Given the description of an element on the screen output the (x, y) to click on. 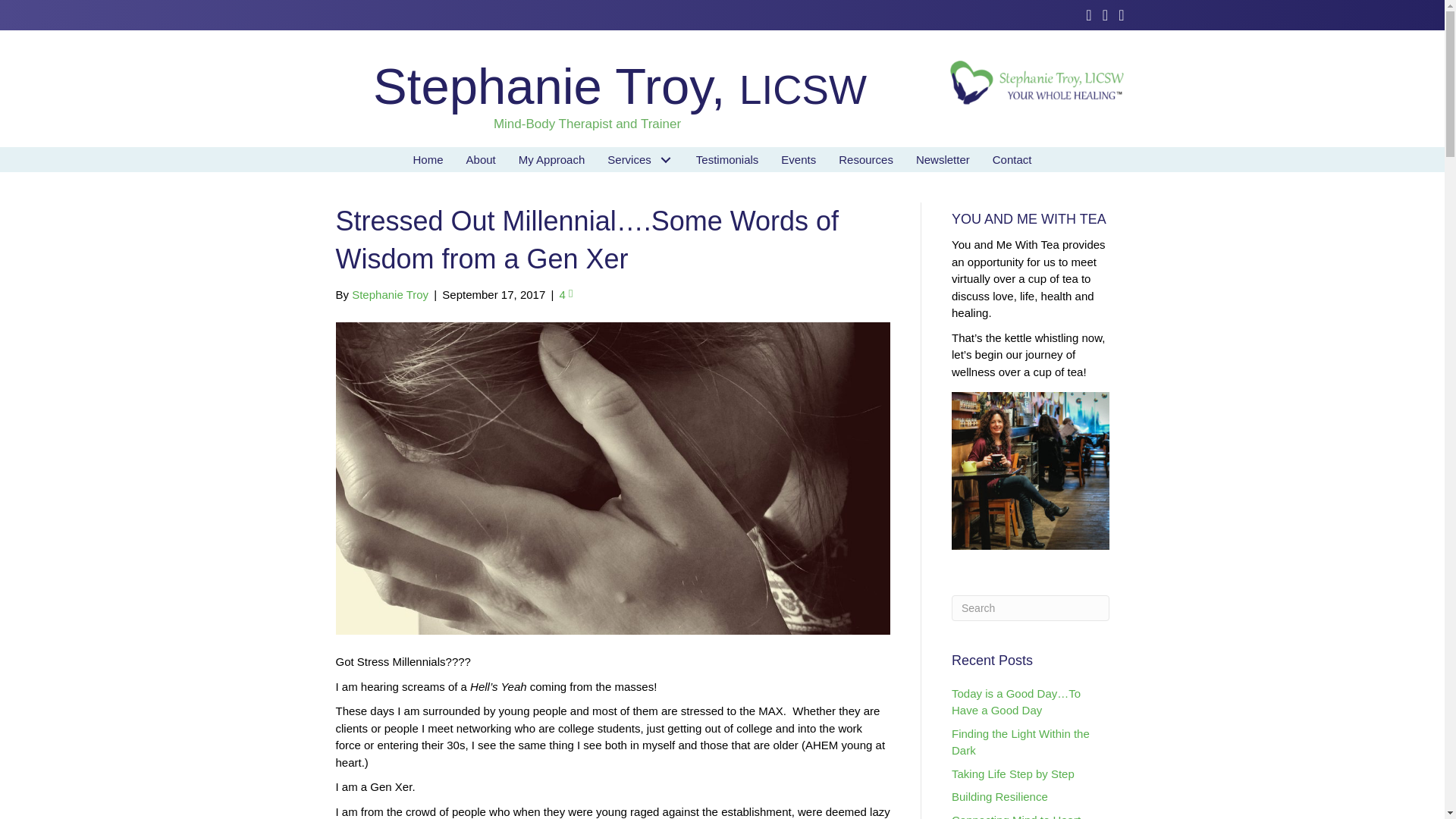
Events (798, 159)
Services (639, 159)
Testimonials (727, 159)
4 (566, 294)
Resources (865, 159)
Stephanie Troy, LICSW (619, 85)
Contact (1012, 159)
My Approach (551, 159)
Type and press Enter to search. (1030, 607)
About (480, 159)
Home (427, 159)
Newsletter (942, 159)
Stephanie Troy (390, 294)
Your Whole Healing logo (1037, 86)
